Given the description of an element on the screen output the (x, y) to click on. 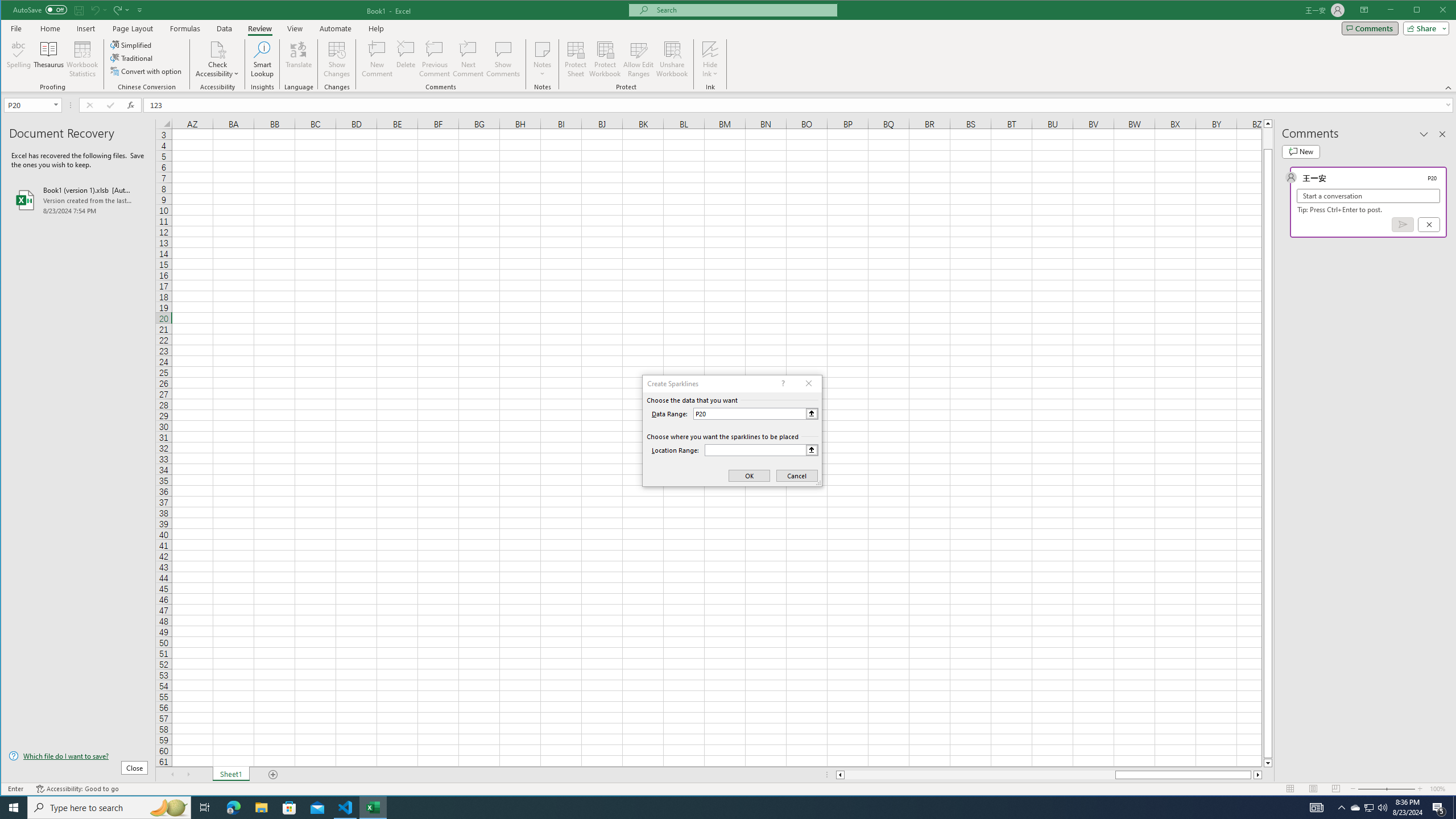
Hide Ink (710, 48)
Protect Sheet... (575, 59)
Simplified (132, 44)
Cancel (1428, 224)
Notes (541, 59)
